Given the description of an element on the screen output the (x, y) to click on. 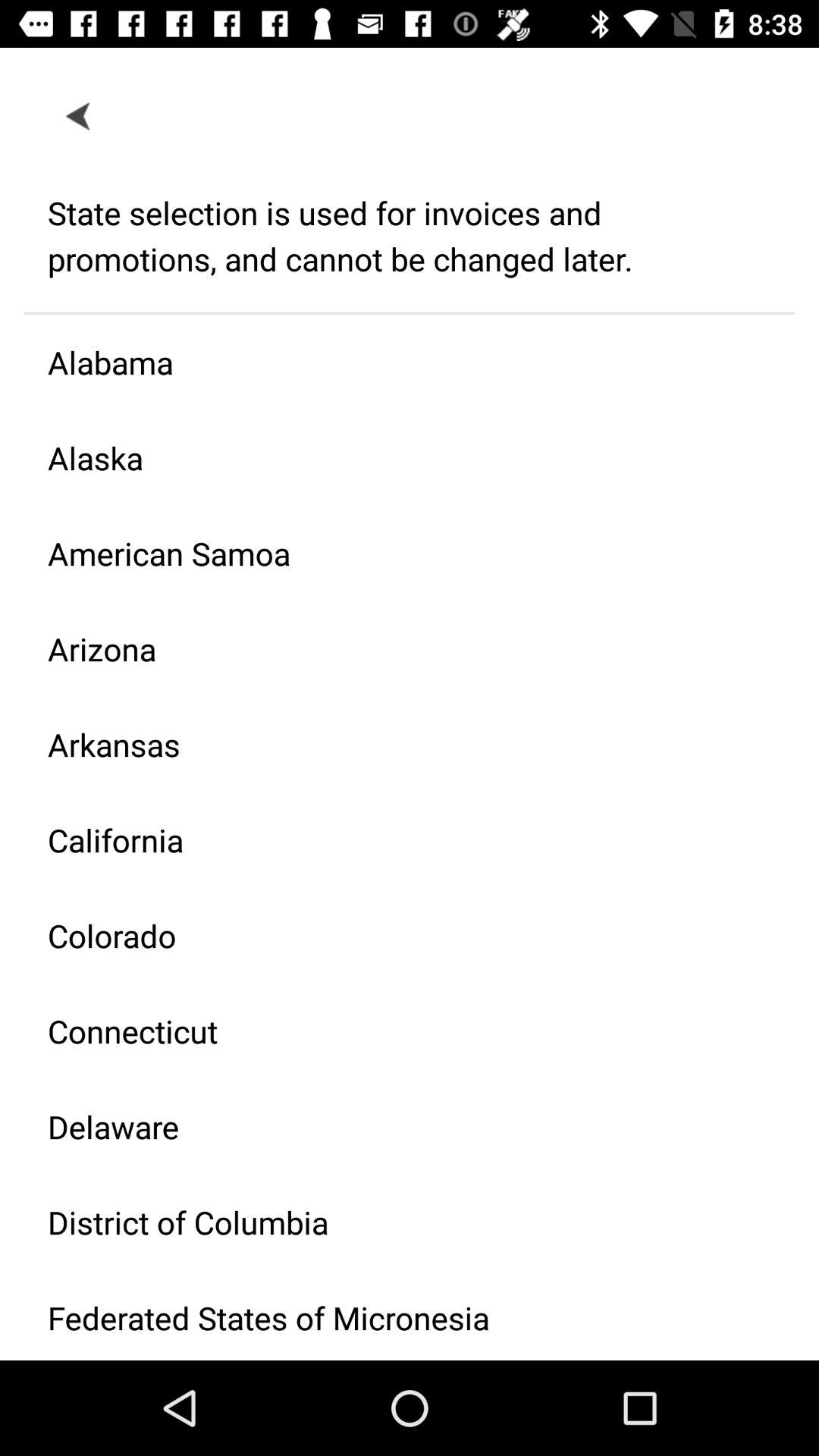
tap the colorado item (397, 935)
